Given the description of an element on the screen output the (x, y) to click on. 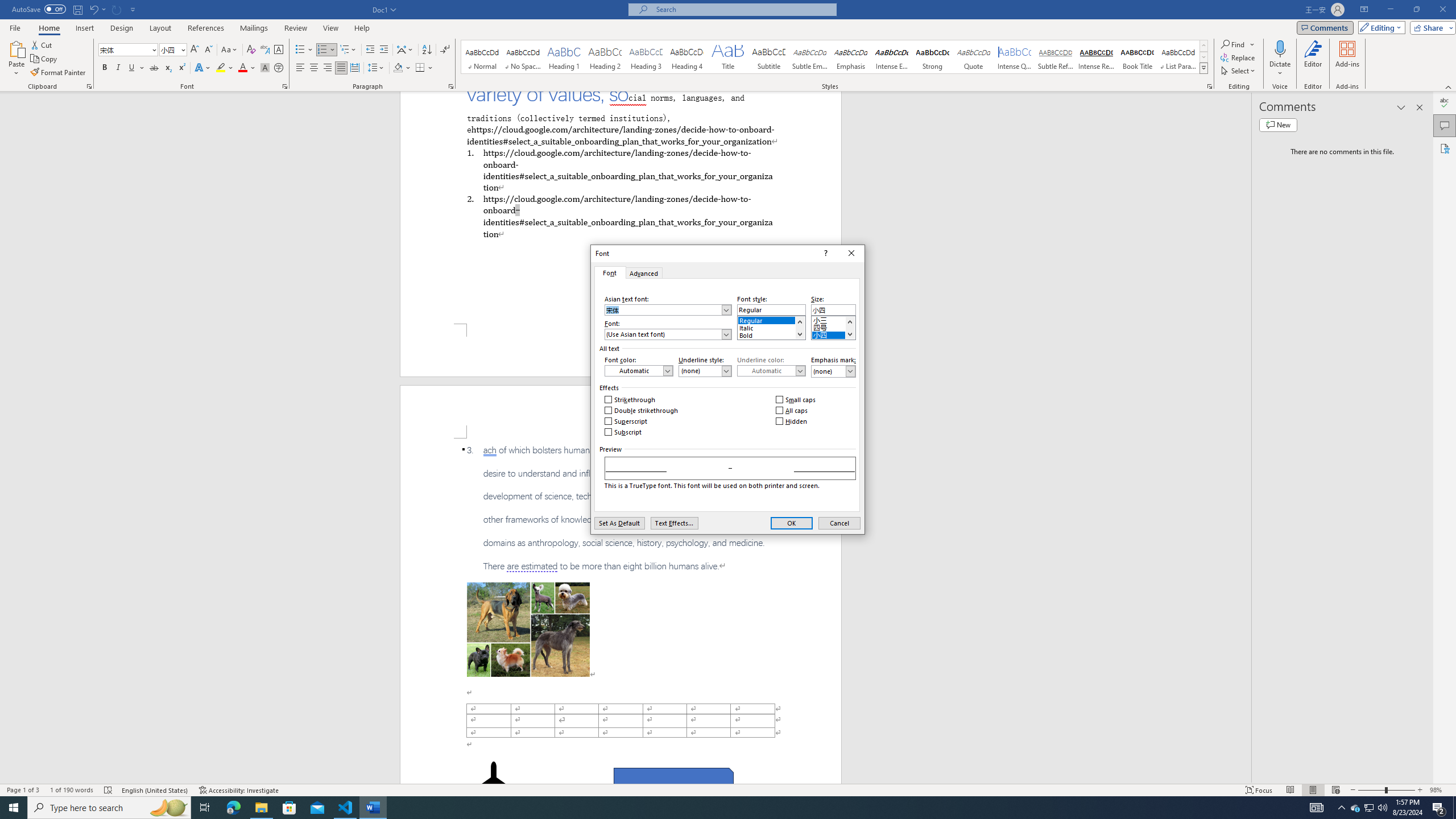
Distributed (354, 67)
Regular (771, 318)
AutoSave (38, 9)
Underline (136, 67)
Bold (104, 67)
Grow Font (193, 49)
Show/Hide Editing Marks (444, 49)
Decrease Indent (370, 49)
Font: (668, 333)
Sort... (426, 49)
Paste (16, 58)
Task View (204, 807)
Running applications (717, 807)
